Given the description of an element on the screen output the (x, y) to click on. 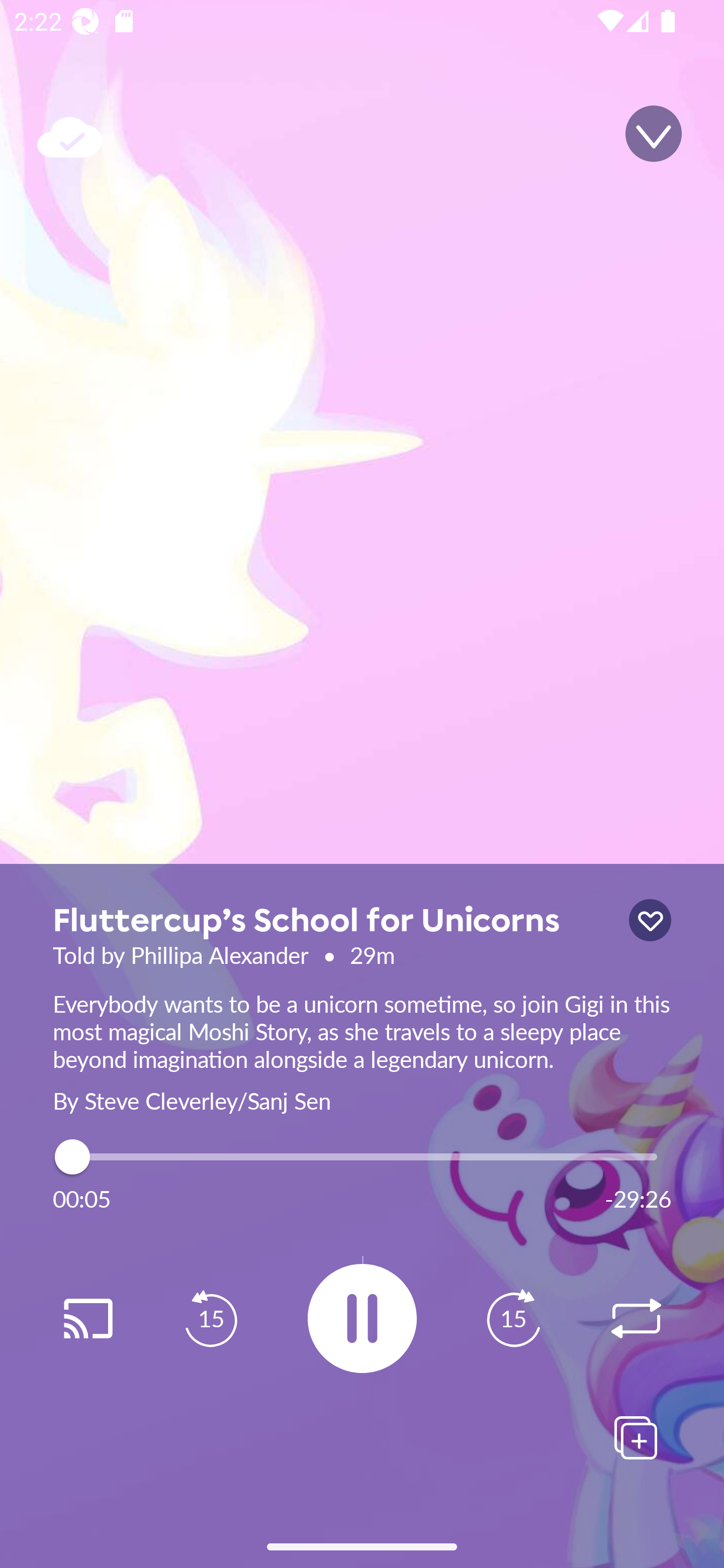
lock icon (650, 920)
0.0031139955 Pause (361, 1317)
Replay (87, 1318)
Replay 15 (210, 1318)
Replay 15 (513, 1318)
Replay (635, 1318)
Add To Playlists (635, 1437)
